Given the description of an element on the screen output the (x, y) to click on. 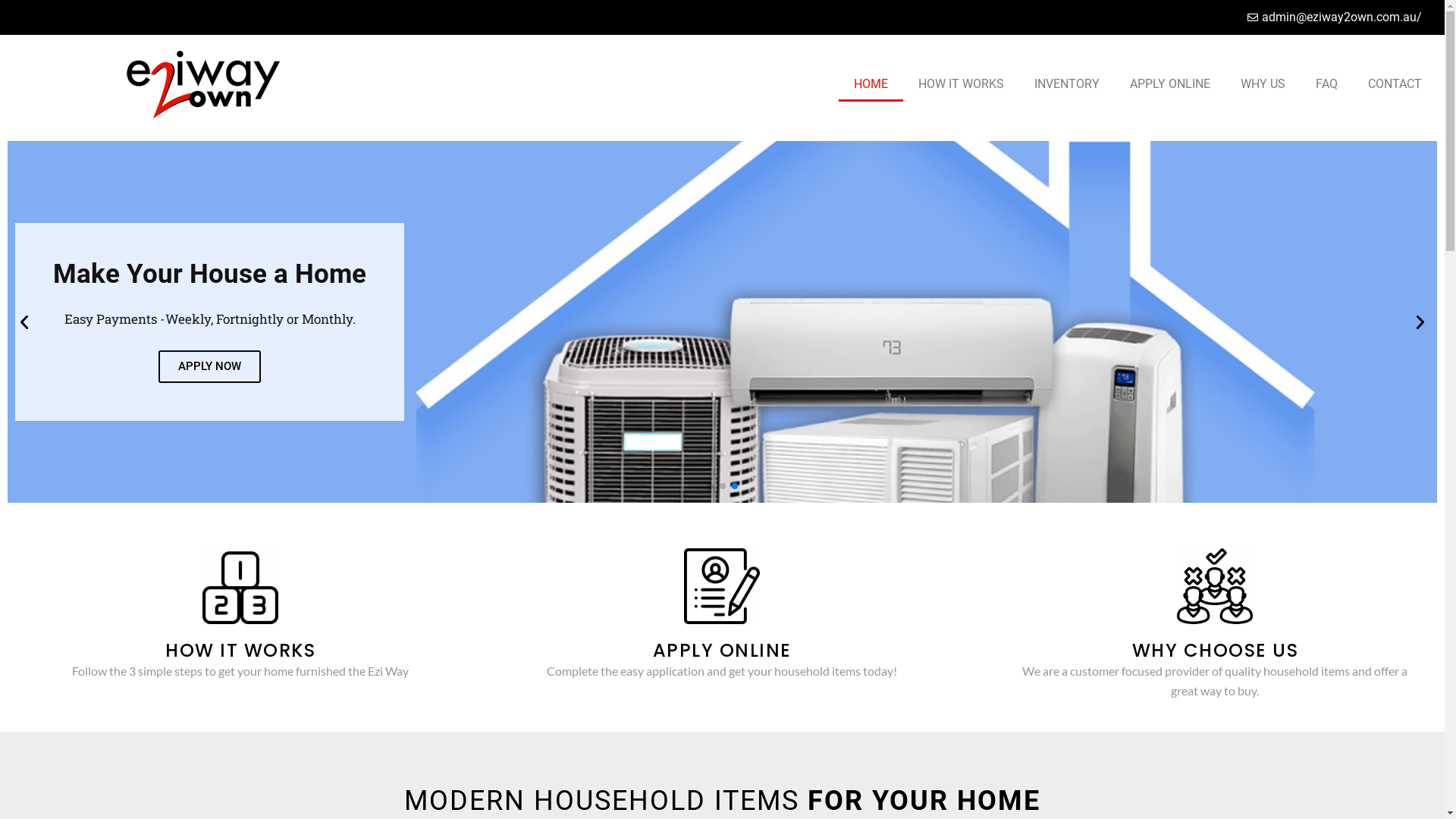
INVENTORY Element type: text (1066, 83)
123 Element type: hover (240, 586)
FAQ Element type: text (1326, 83)
APPLY ONLINE Element type: text (1169, 83)
WHY US Element type: text (1262, 83)
HOW IT WORKS Element type: text (961, 83)
HOME Element type: text (870, 83)
choosing Element type: hover (1214, 586)
APPLY NOW Element type: text (209, 368)
CONTACT Element type: text (1394, 83)
resume Element type: hover (721, 586)
